Given the description of an element on the screen output the (x, y) to click on. 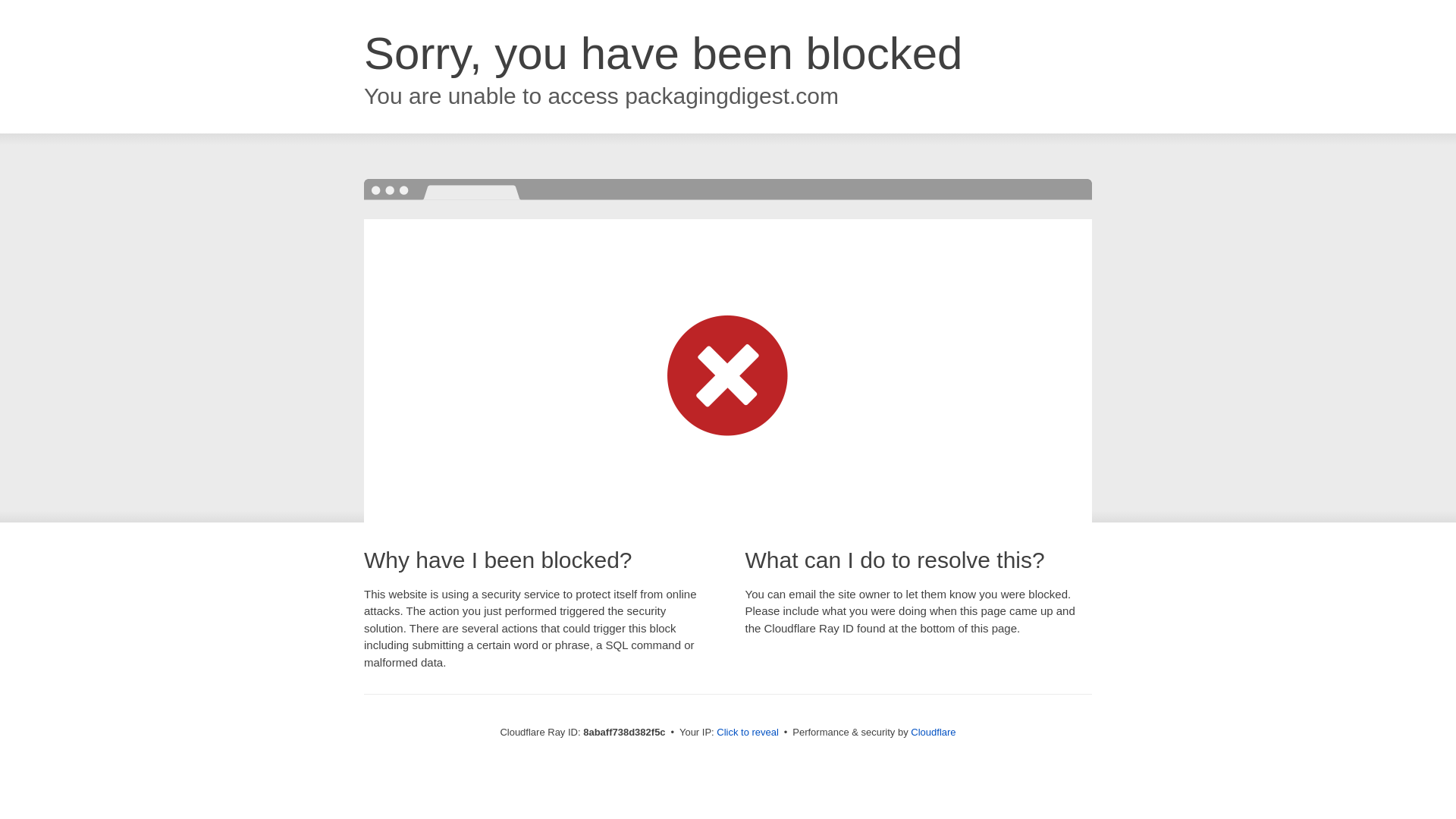
Cloudflare (933, 731)
Click to reveal (747, 732)
